Given the description of an element on the screen output the (x, y) to click on. 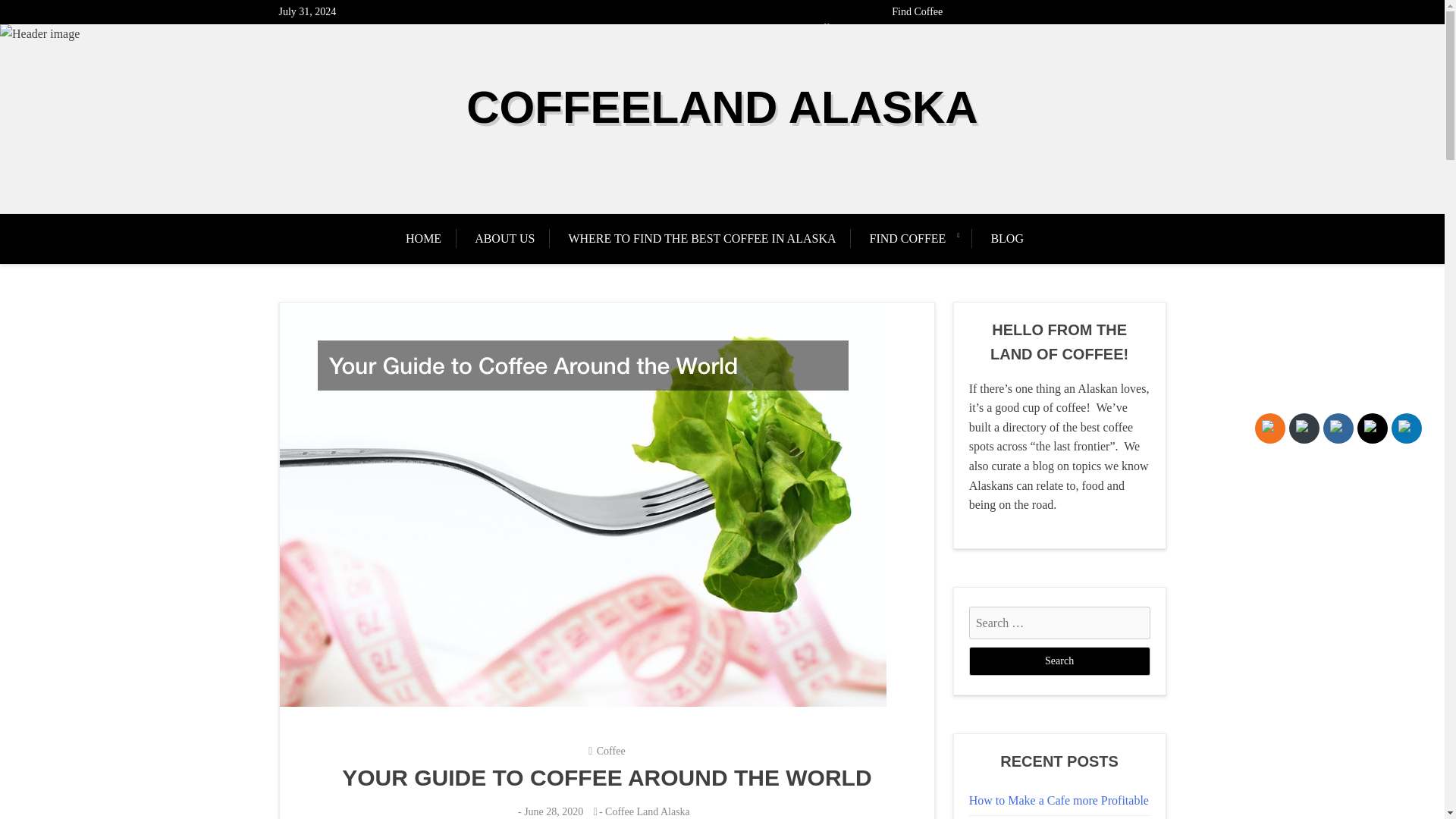
ABOUT US (505, 238)
Coffee Land Alaska (647, 811)
Kenai (1013, 28)
Blog (1147, 28)
About Us (671, 28)
LinkedIn (1406, 428)
Follow by Email (1304, 428)
June 28, 2020 (553, 811)
Anchorage (914, 28)
BLOG (1007, 238)
FIND COFFEE (906, 238)
Mat-Su (1052, 28)
Where To Find The Best Coffee In Alaska (792, 28)
Southeast (1098, 28)
Home (628, 28)
